Given the description of an element on the screen output the (x, y) to click on. 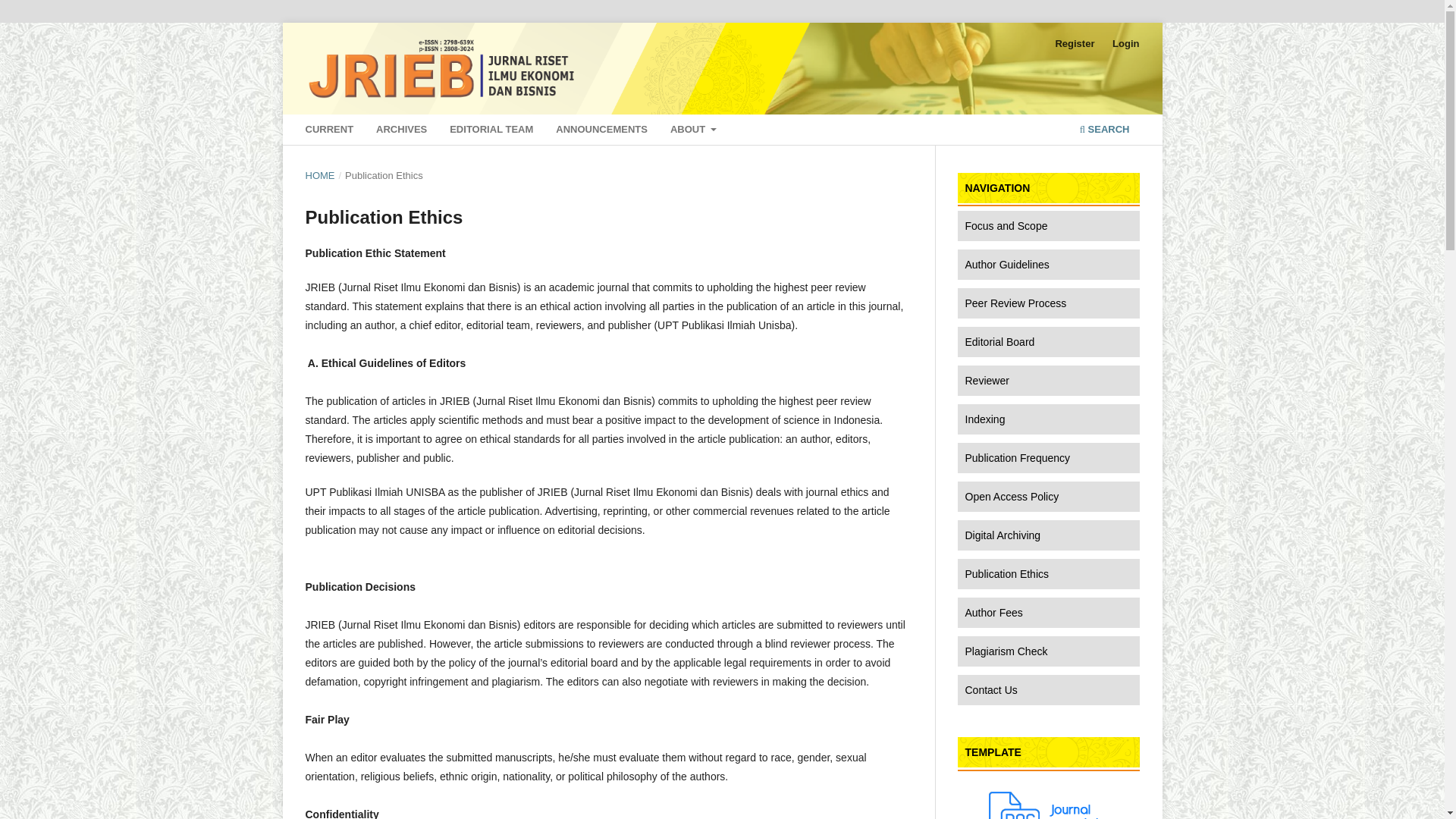
ANNOUNCEMENTS (601, 130)
ARCHIVES (401, 130)
SEARCH (1104, 130)
Register (1074, 43)
EDITORIAL TEAM (491, 130)
CURRENT (328, 130)
Login (1126, 43)
Template JRIEB (1047, 804)
ABOUT (692, 130)
Contact Us (1047, 689)
